Given the description of an element on the screen output the (x, y) to click on. 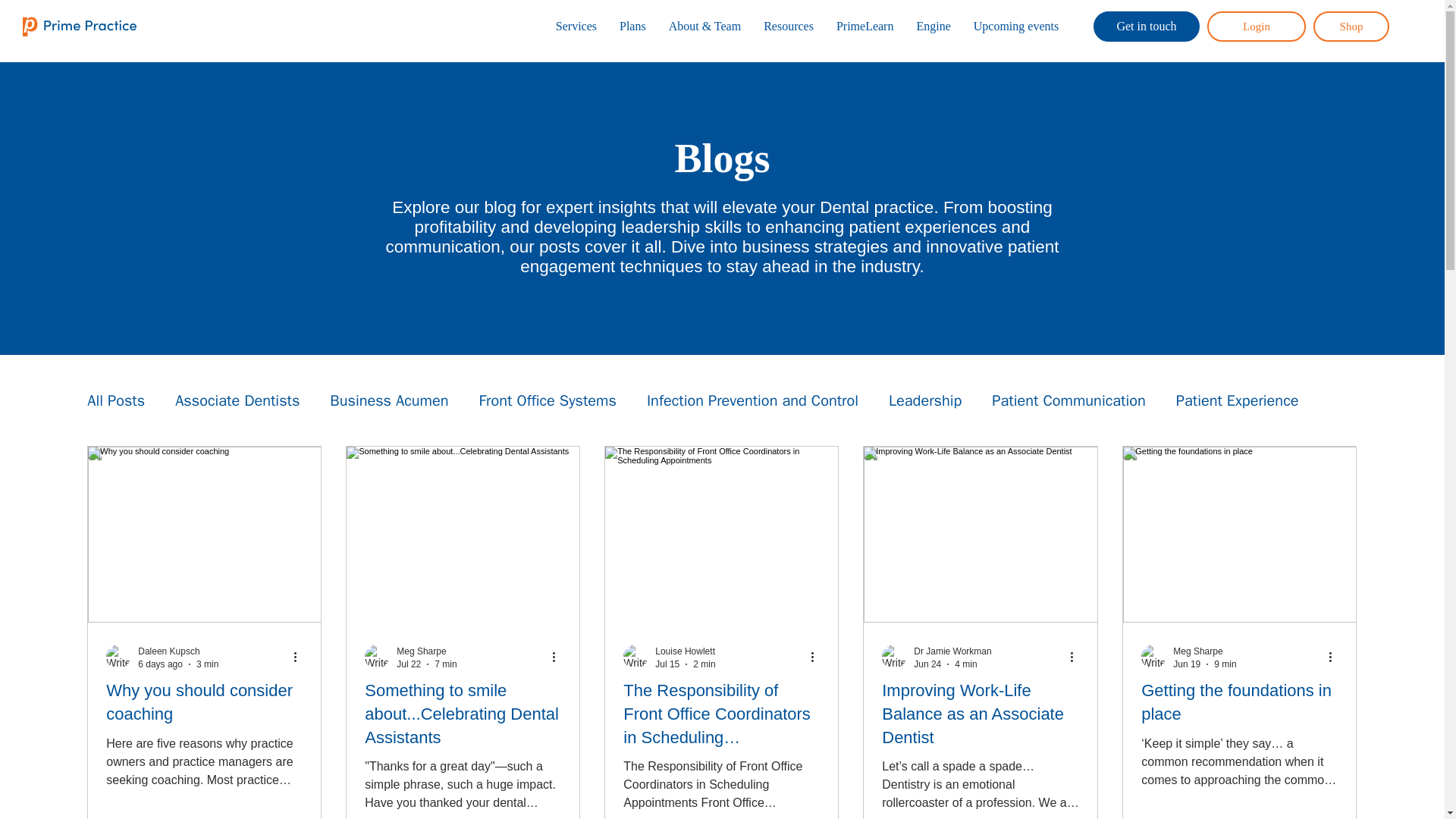
Jun 24 (927, 664)
Business Acumen (389, 400)
Meg Sharpe (1198, 651)
Jun 19 (1186, 664)
Jul 15 (667, 664)
Get in touch (1146, 26)
Engine (932, 25)
Daleen Kupsch (168, 651)
Leadership (924, 400)
All Posts (115, 400)
Associate Dentists (236, 400)
9 min (1225, 664)
Front Office Systems (547, 400)
Infection Prevention and Control (752, 400)
Dr Jamie Workman (952, 651)
